Given the description of an element on the screen output the (x, y) to click on. 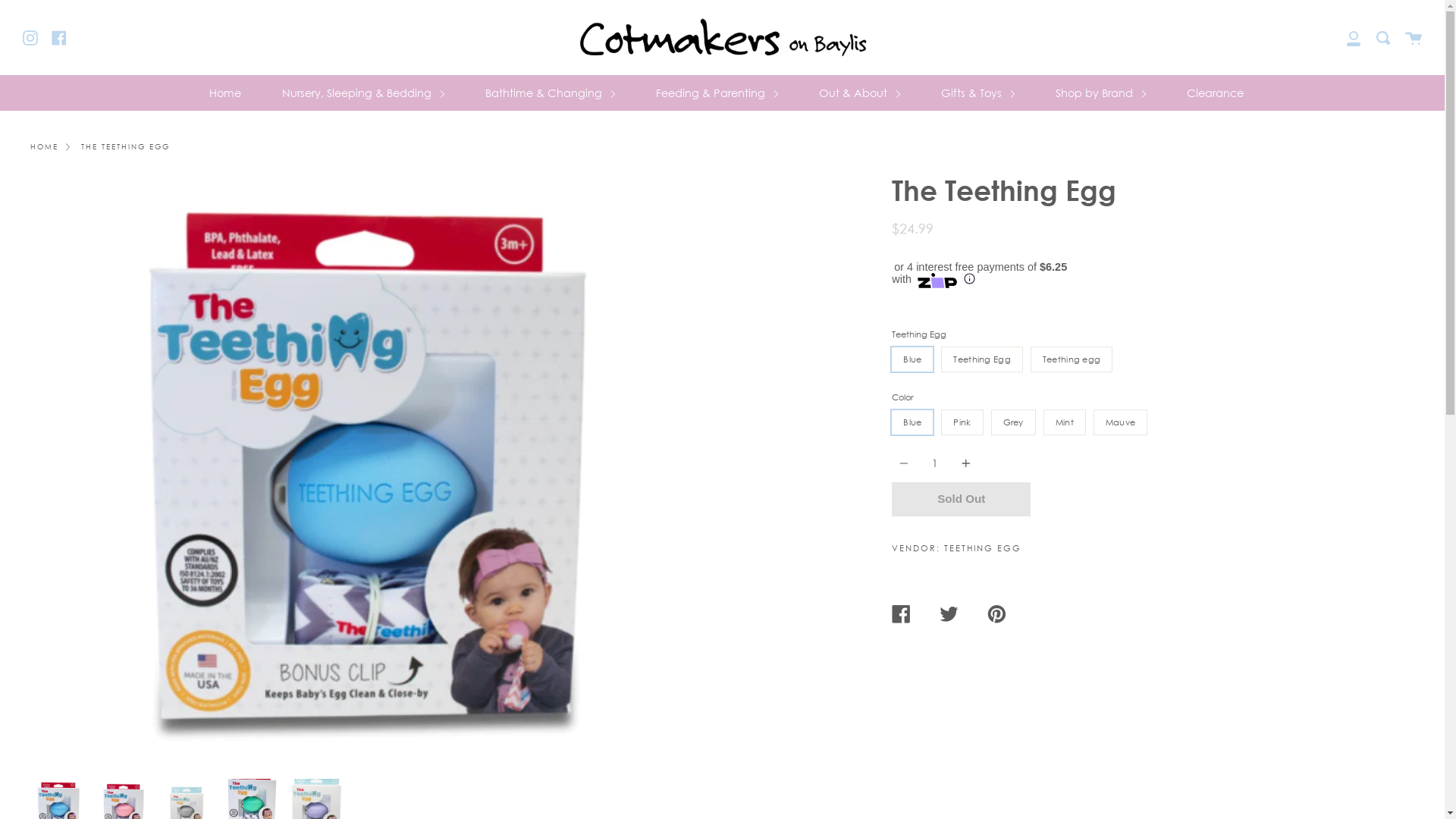
Search Element type: text (1383, 37)
PIN ON PINTEREST Element type: text (1011, 613)
TWEET ON TWITTER Element type: text (963, 613)
Shop by Brand Element type: text (1099, 92)
Clearance Element type: text (1215, 92)
TEETHING EGG Element type: text (982, 549)
Home Element type: text (224, 92)
Sold Out Element type: text (960, 499)
HOME Element type: text (44, 146)
Cart Element type: text (1413, 37)
Bathtime & Changing Element type: text (549, 92)
SHARE ON FACEBOOK Element type: text (915, 613)
Nursery, Sleeping & Bedding Element type: text (362, 92)
Gifts & Toys Element type: text (977, 92)
Facebook Element type: text (58, 37)
Feeding & Parenting Element type: text (716, 92)
Instagram Element type: text (29, 37)
My Account Element type: text (1353, 37)
Out & About Element type: text (858, 92)
